Given the description of an element on the screen output the (x, y) to click on. 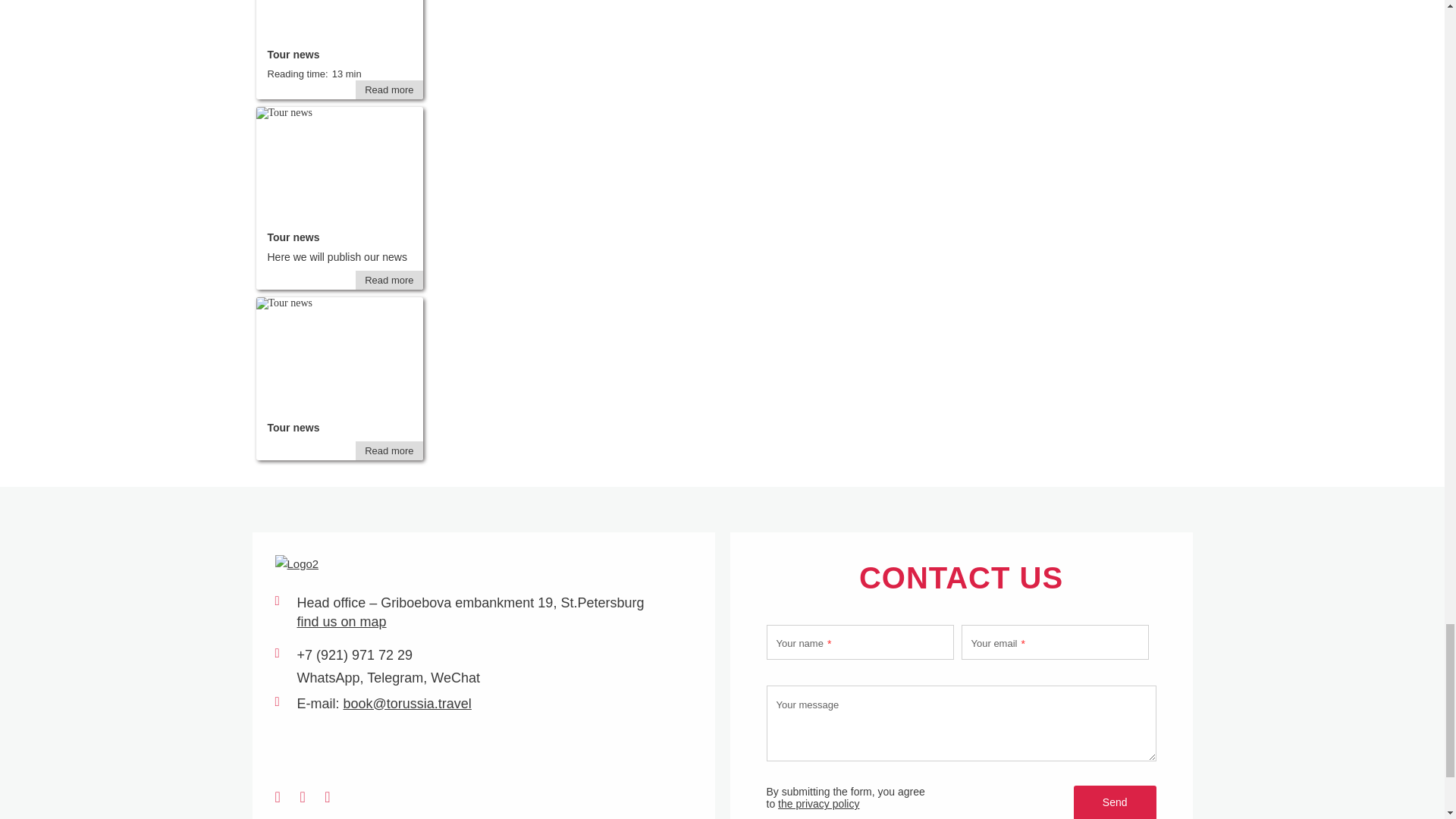
Send (1115, 802)
